Given the description of an element on the screen output the (x, y) to click on. 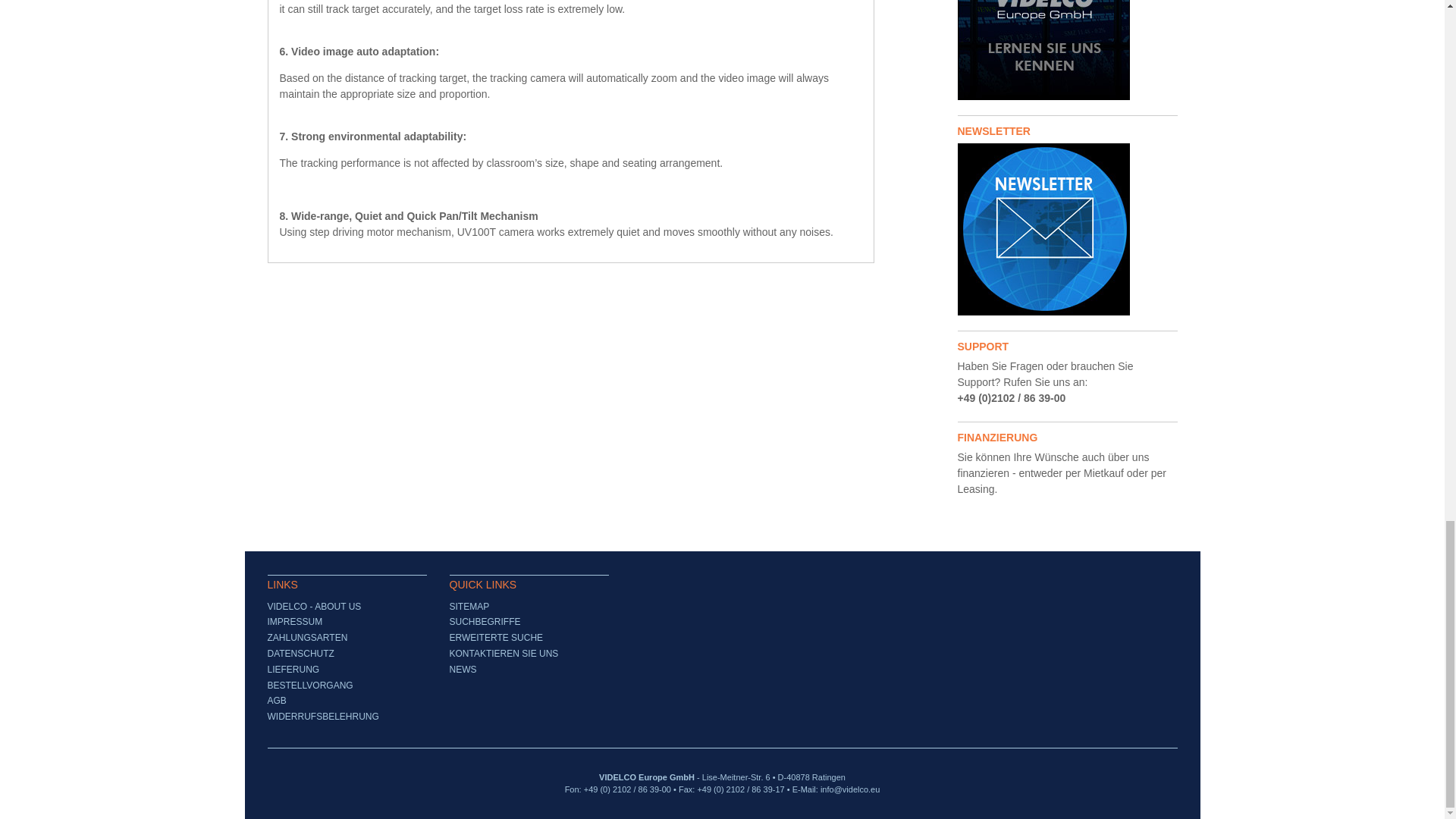
VIDELCO Newsletter (1066, 229)
About us (1066, 49)
VIDELCO About us (1042, 49)
